Given the description of an element on the screen output the (x, y) to click on. 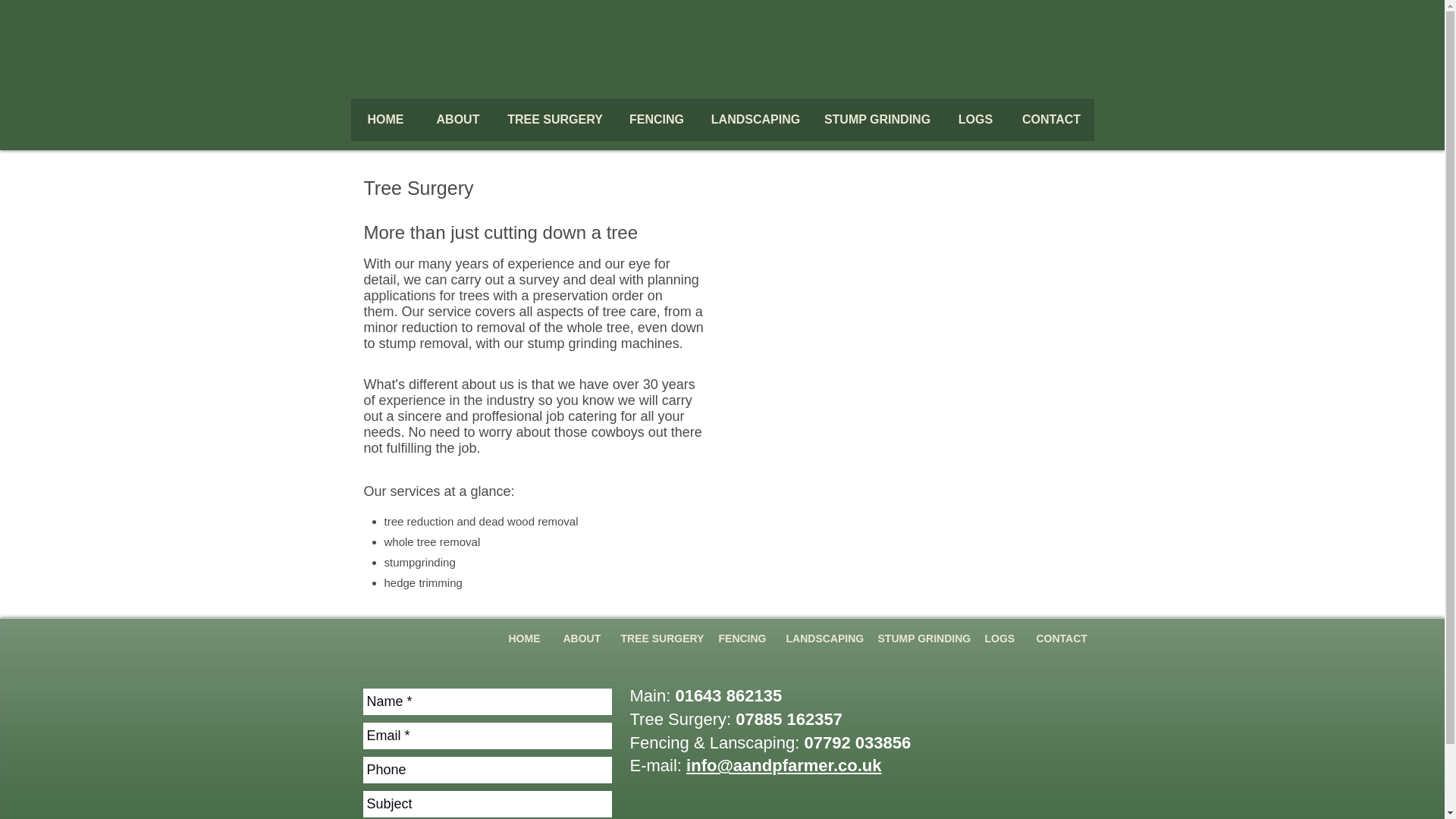
ABOUT (580, 643)
TREE SURGERY (658, 643)
STUMP GRINDING (877, 123)
HOME (385, 123)
STUMP GRINDING (919, 643)
FENCING (740, 643)
TREE SURGERY (555, 123)
HOME (524, 643)
FENCING (656, 123)
LOGS (975, 123)
CONTACT (1051, 123)
ABOUT (457, 123)
LOGS (999, 643)
LANDSCAPING (820, 643)
LANDSCAPING (755, 123)
